Given the description of an element on the screen output the (x, y) to click on. 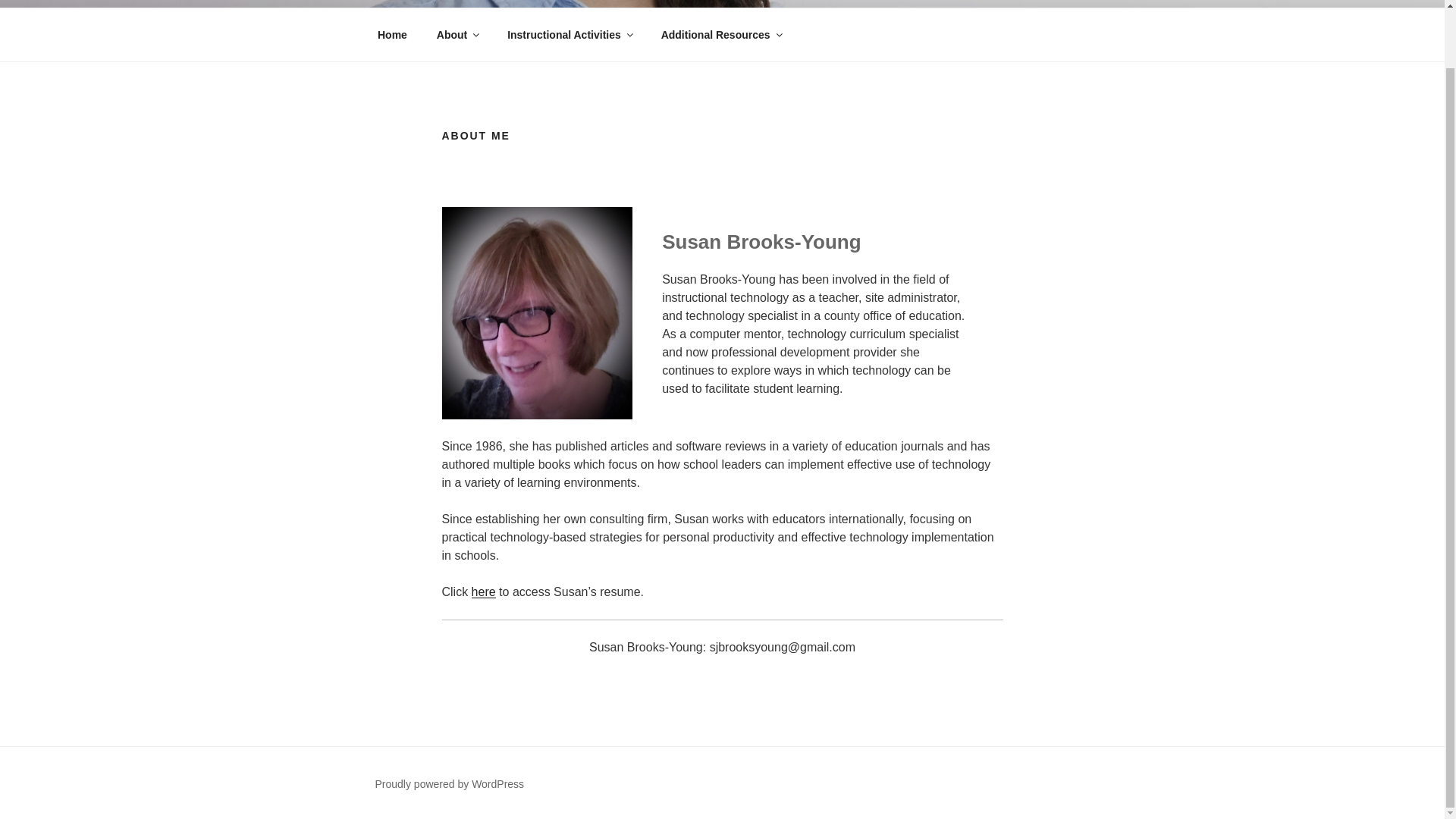
MEDIA LITERACY TODAY (566, 2)
Additional Resources (720, 34)
Home (392, 34)
here (483, 591)
Proudly powered by WordPress (449, 784)
About (456, 34)
Instructional Activities (570, 34)
